Given the description of an element on the screen output the (x, y) to click on. 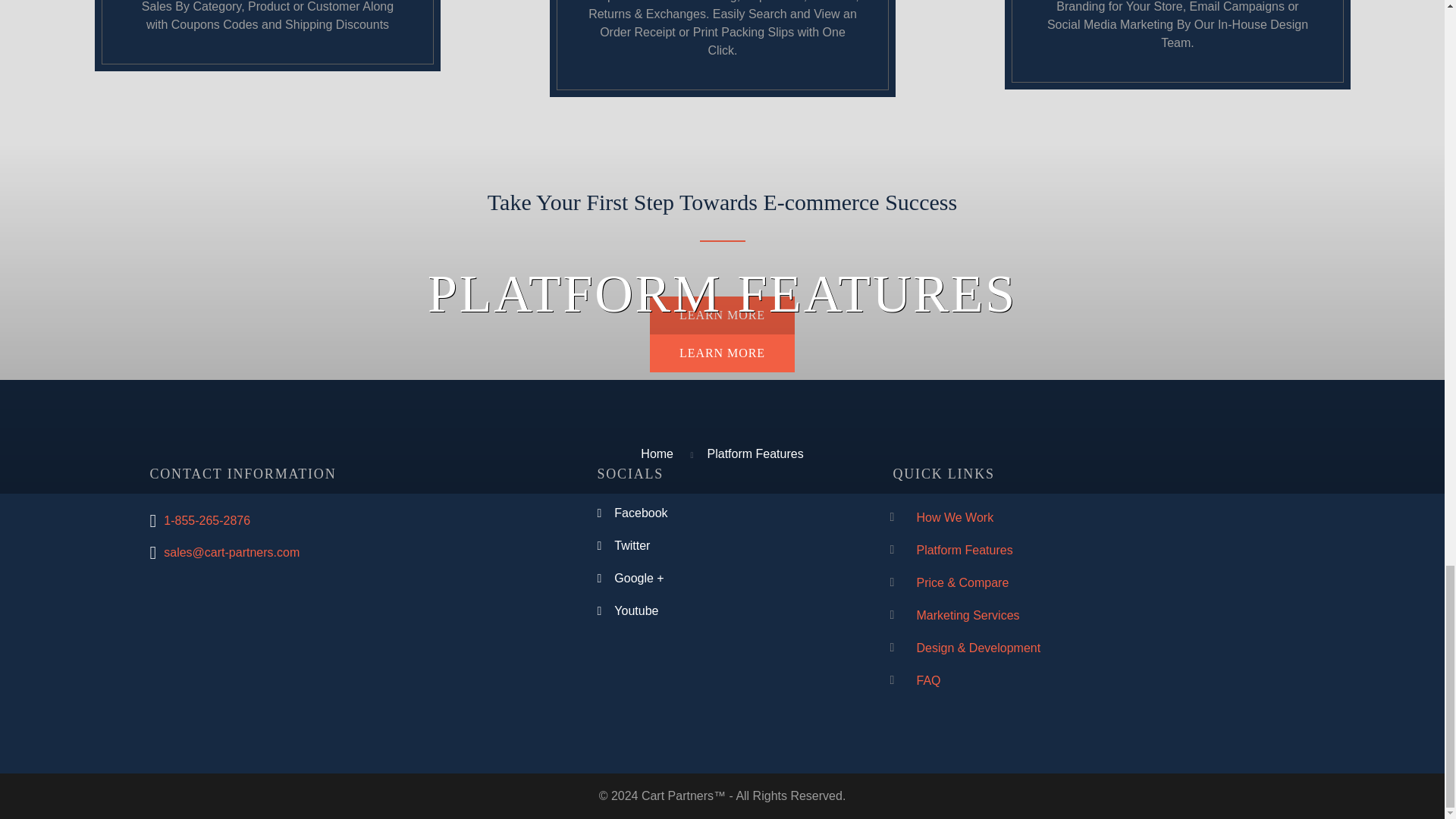
LEARN MORE (721, 315)
Platform Features (963, 549)
FAQ (927, 680)
Facebook (640, 512)
Marketing Services (967, 615)
How We Work (953, 517)
1-855-265-2876 (206, 520)
Youtube (636, 610)
Twitter (631, 545)
